Given the description of an element on the screen output the (x, y) to click on. 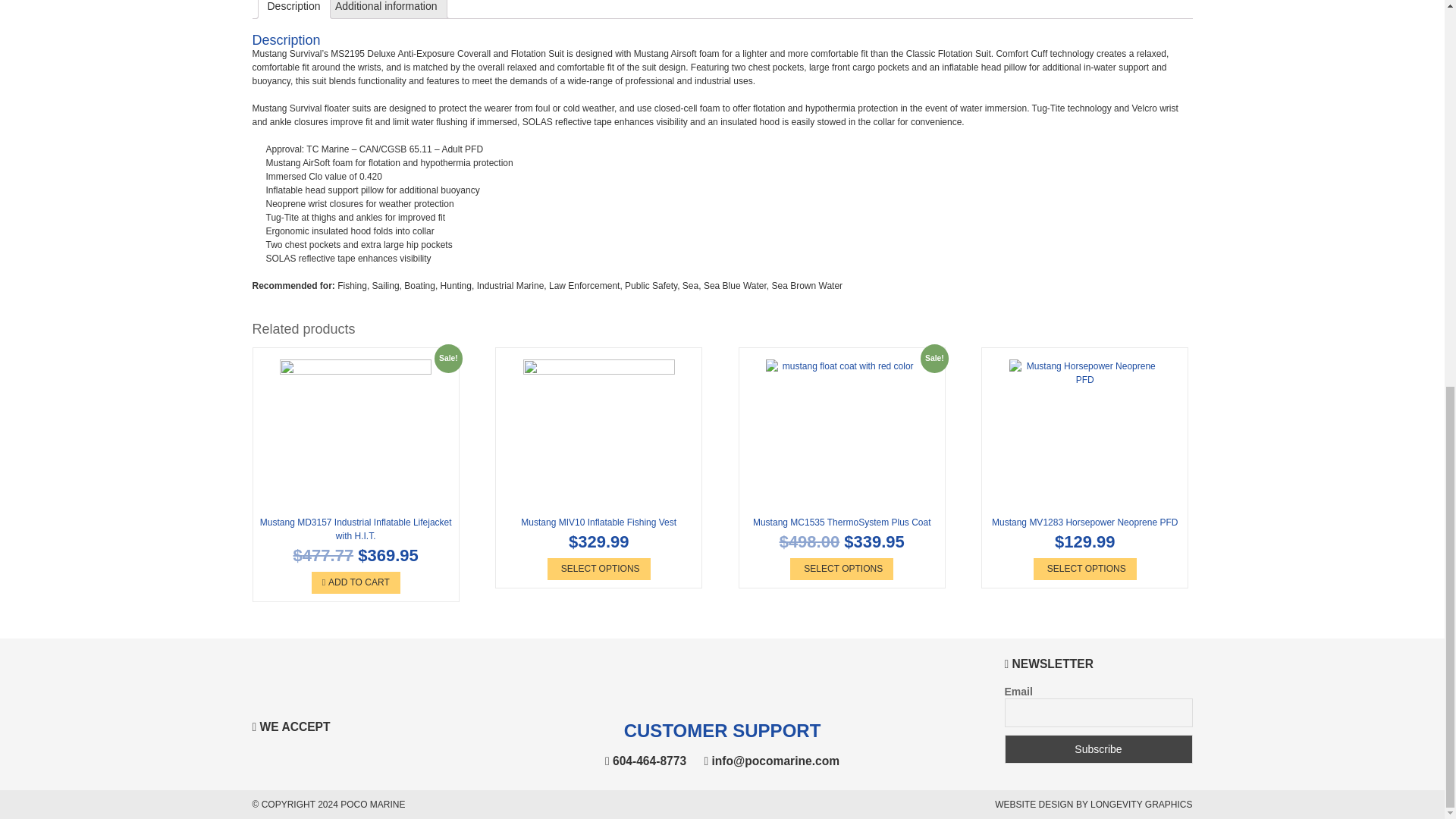
Subscribe (1098, 748)
Poco Marine (372, 804)
